Given the description of an element on the screen output the (x, y) to click on. 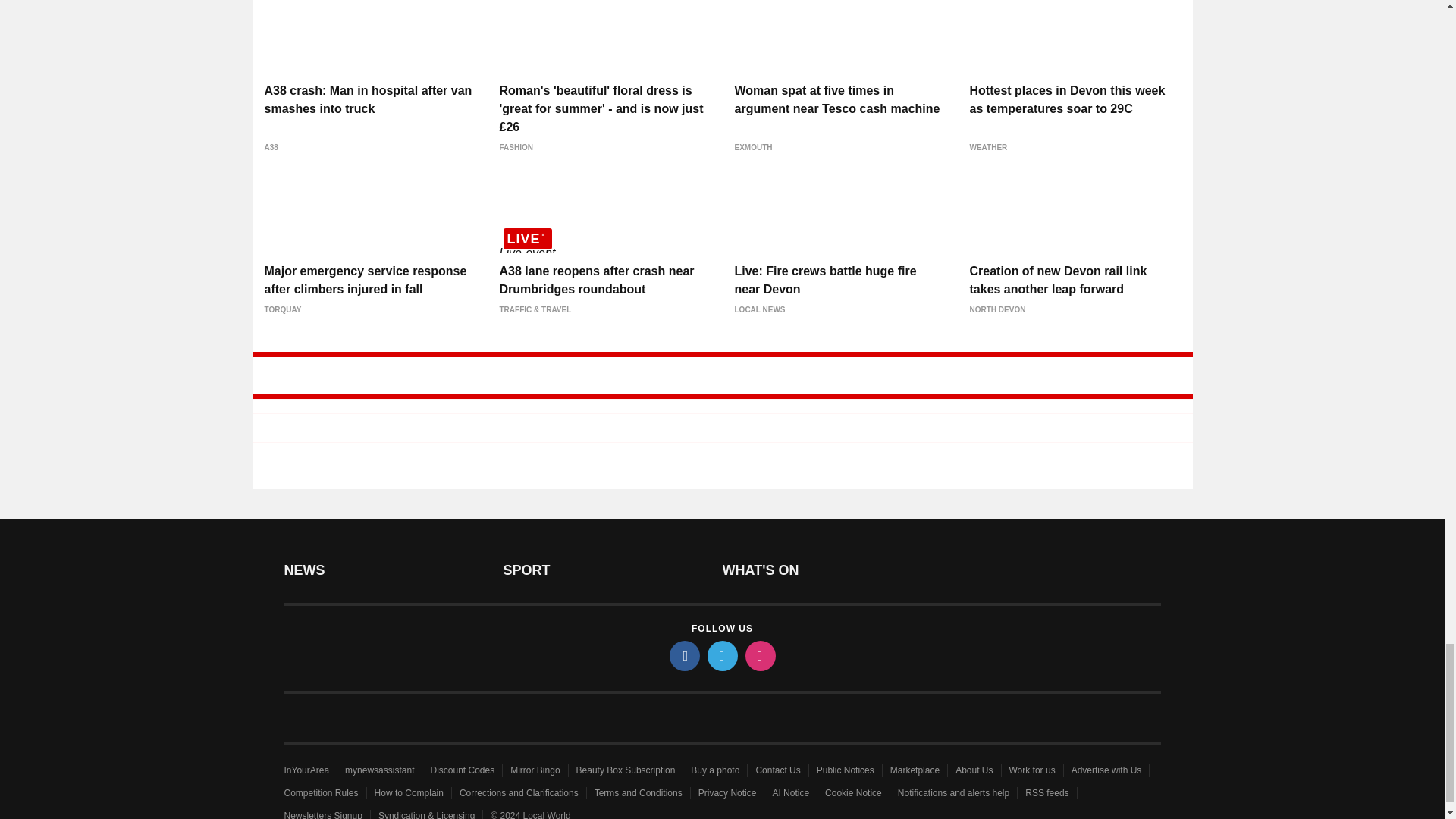
facebook (683, 655)
twitter (721, 655)
instagram (759, 655)
